Given the description of an element on the screen output the (x, y) to click on. 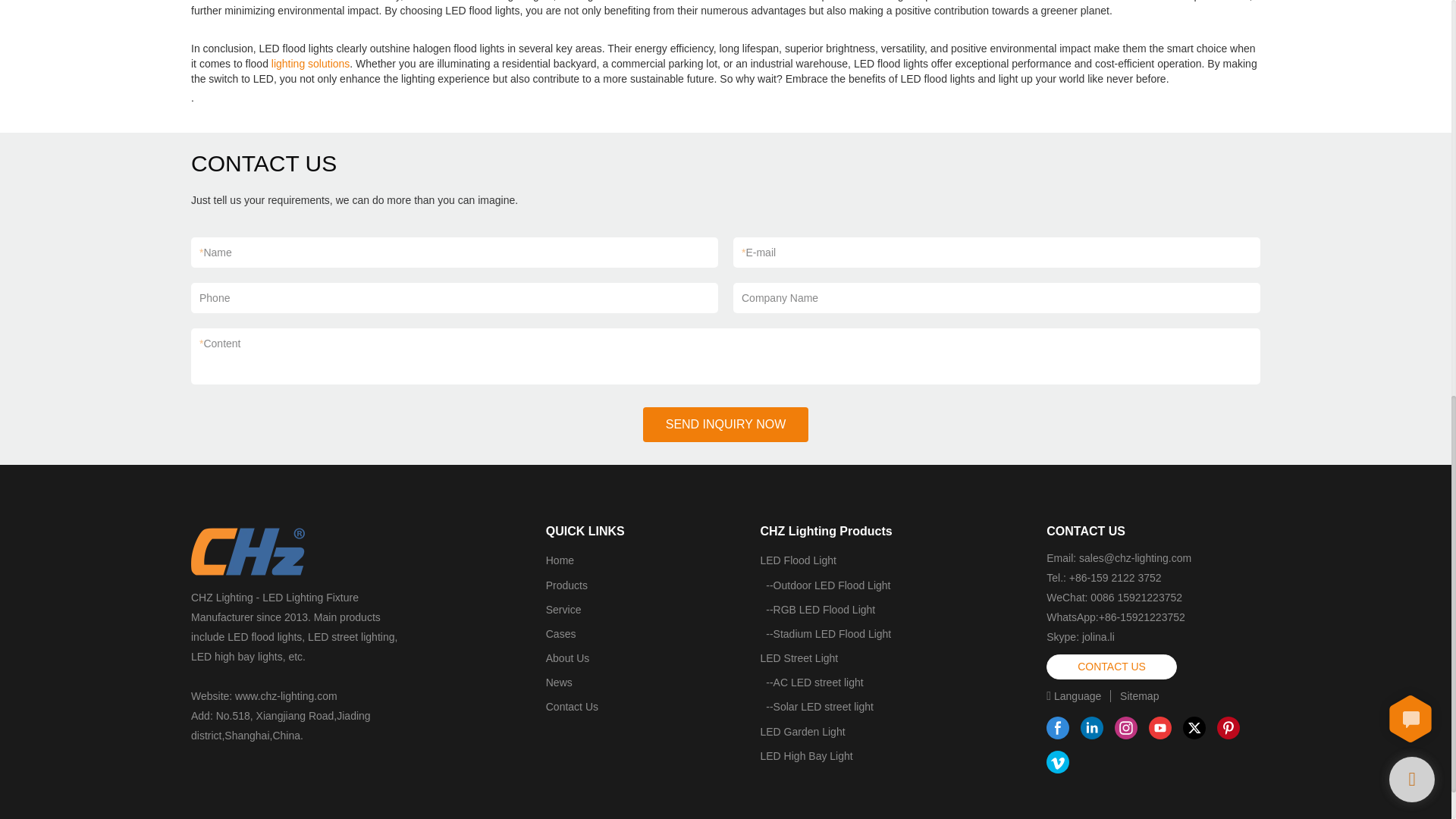
lighting solutions (310, 63)
lighting solutions (310, 63)
SEND INQUIRY NOW (726, 424)
